Given the description of an element on the screen output the (x, y) to click on. 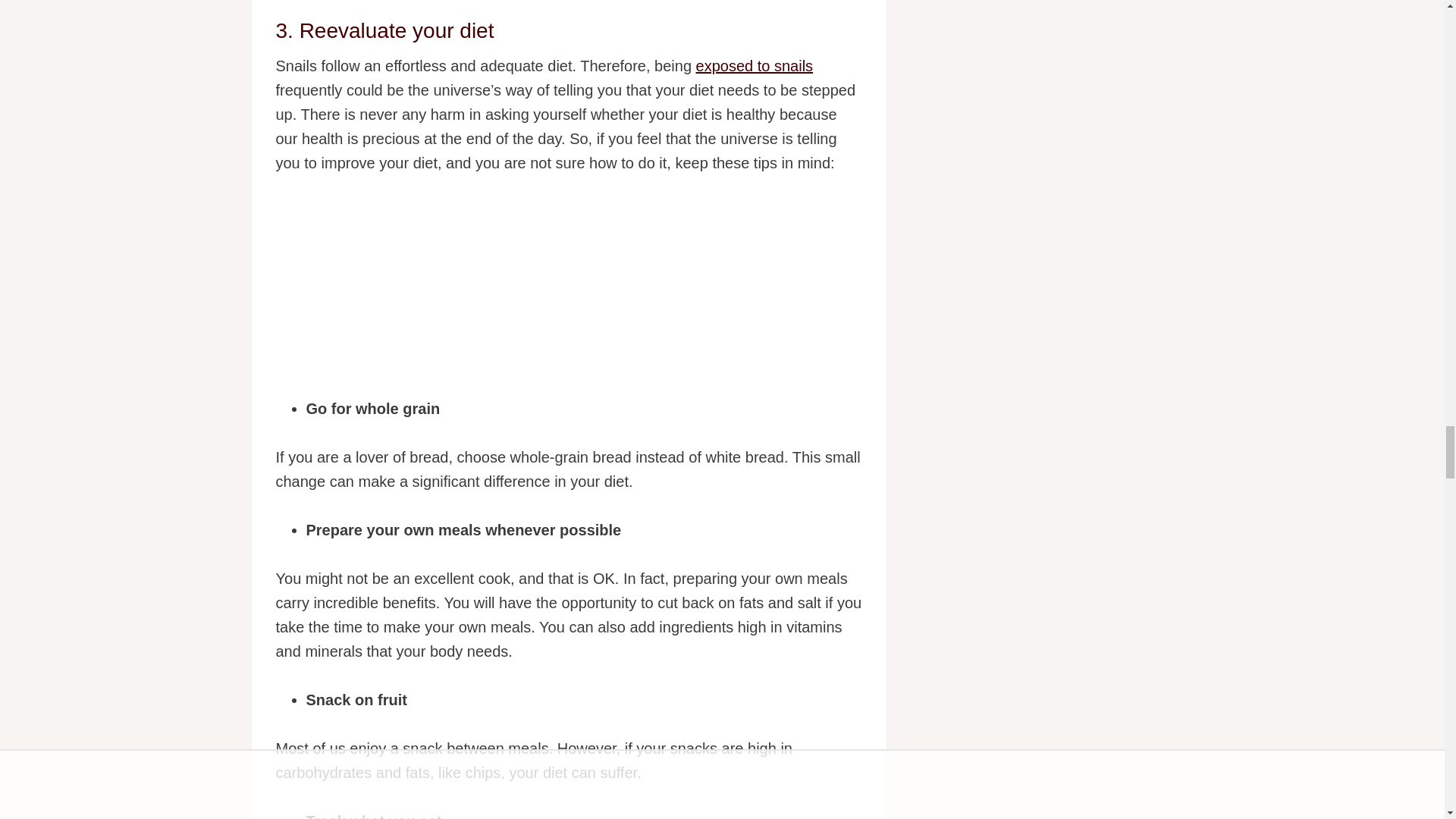
exposed to snails (754, 65)
